Given the description of an element on the screen output the (x, y) to click on. 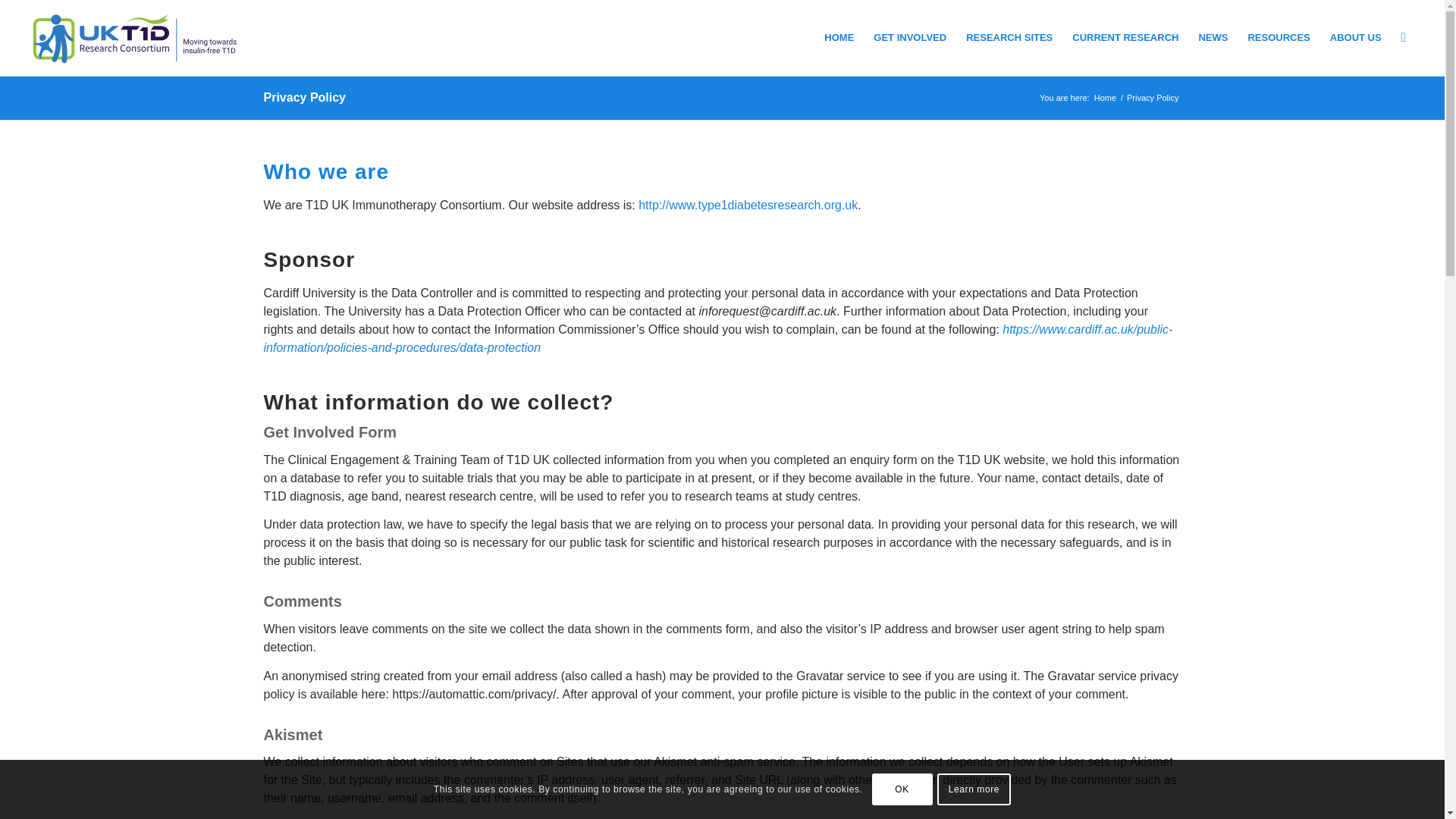
GET INVOLVED (909, 38)
Resources if you want to find out more (1278, 38)
CURRENT RESEARCH (1125, 38)
Learn more (974, 789)
T1DUK (1105, 98)
Privacy Policy (304, 97)
logo (136, 38)
RESEARCH SITES (1009, 38)
RESOURCES (1278, 38)
ABOUT US (1355, 38)
